Given the description of an element on the screen output the (x, y) to click on. 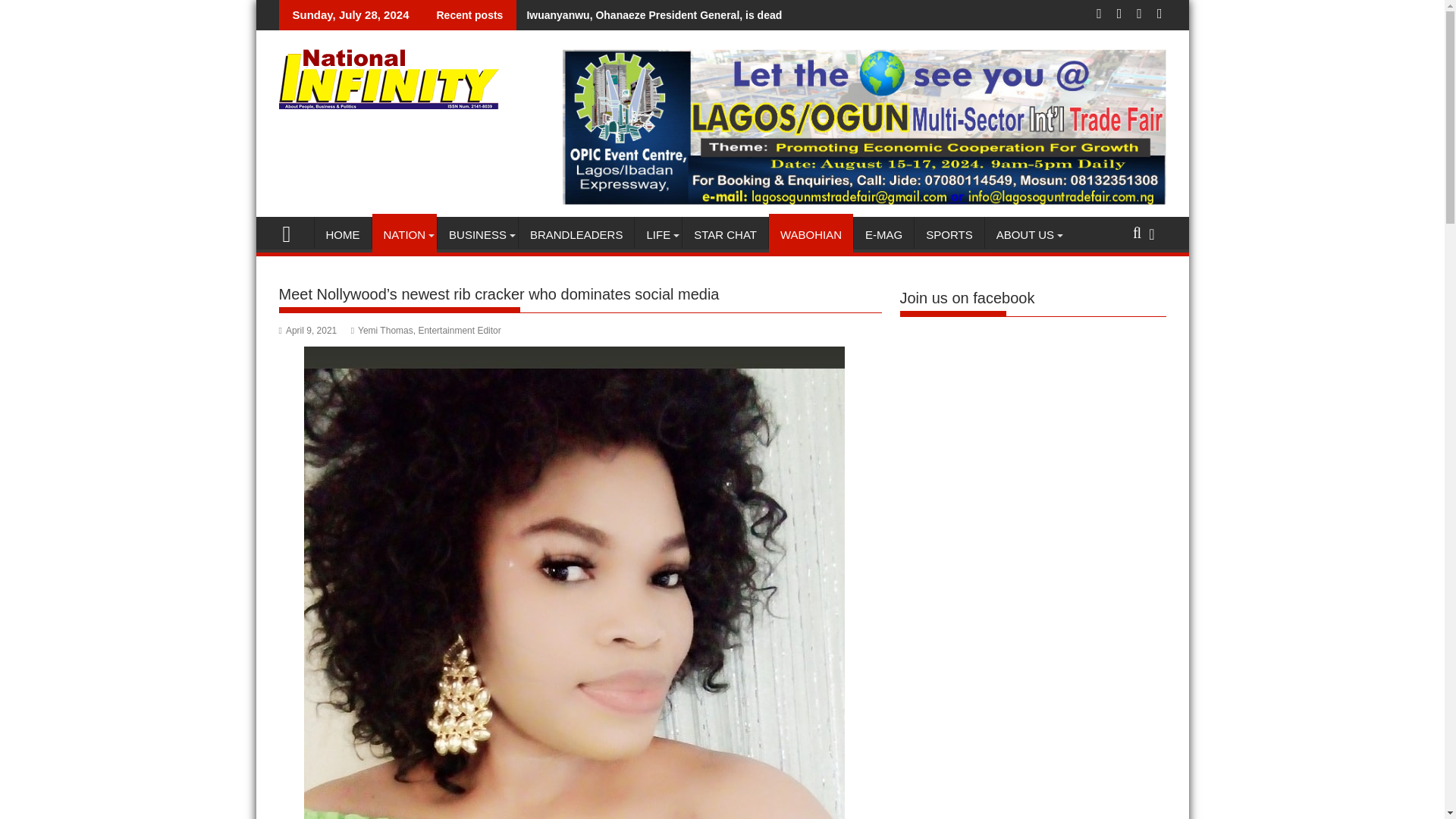
ABOUT US (1025, 235)
NATION (403, 235)
BUSINESS (478, 235)
STAR CHAT (725, 235)
National Infinity Magazine (293, 231)
Iwuanyanwu, Ohanaeze President General, is dead (648, 15)
HOME (342, 235)
BRANDLEADERS (576, 235)
E-MAG (883, 235)
SPORTS (949, 235)
WABOHIAN (810, 235)
LIFE (657, 235)
N6.9bn Fraud: EFCC presents more witness against Fayose (375, 15)
N6.9bn Fraud: EFCC presents more witness against Fayose (375, 15)
Iwuanyanwu, Ohanaeze President General, is dead (648, 15)
